Given the description of an element on the screen output the (x, y) to click on. 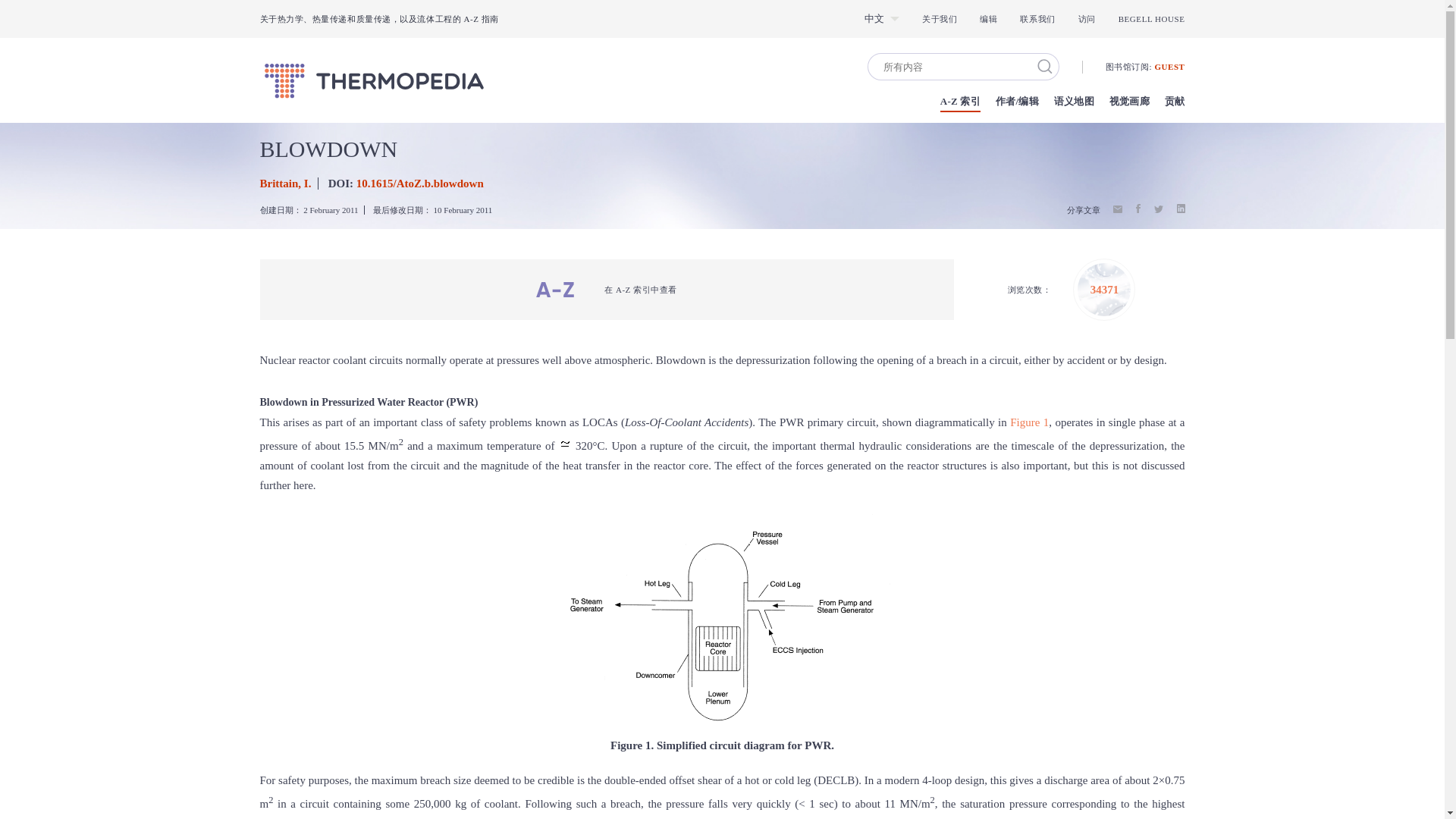
Figure 1 (1029, 422)
Brittain, I. (285, 183)
GUEST (1169, 66)
